Given the description of an element on the screen output the (x, y) to click on. 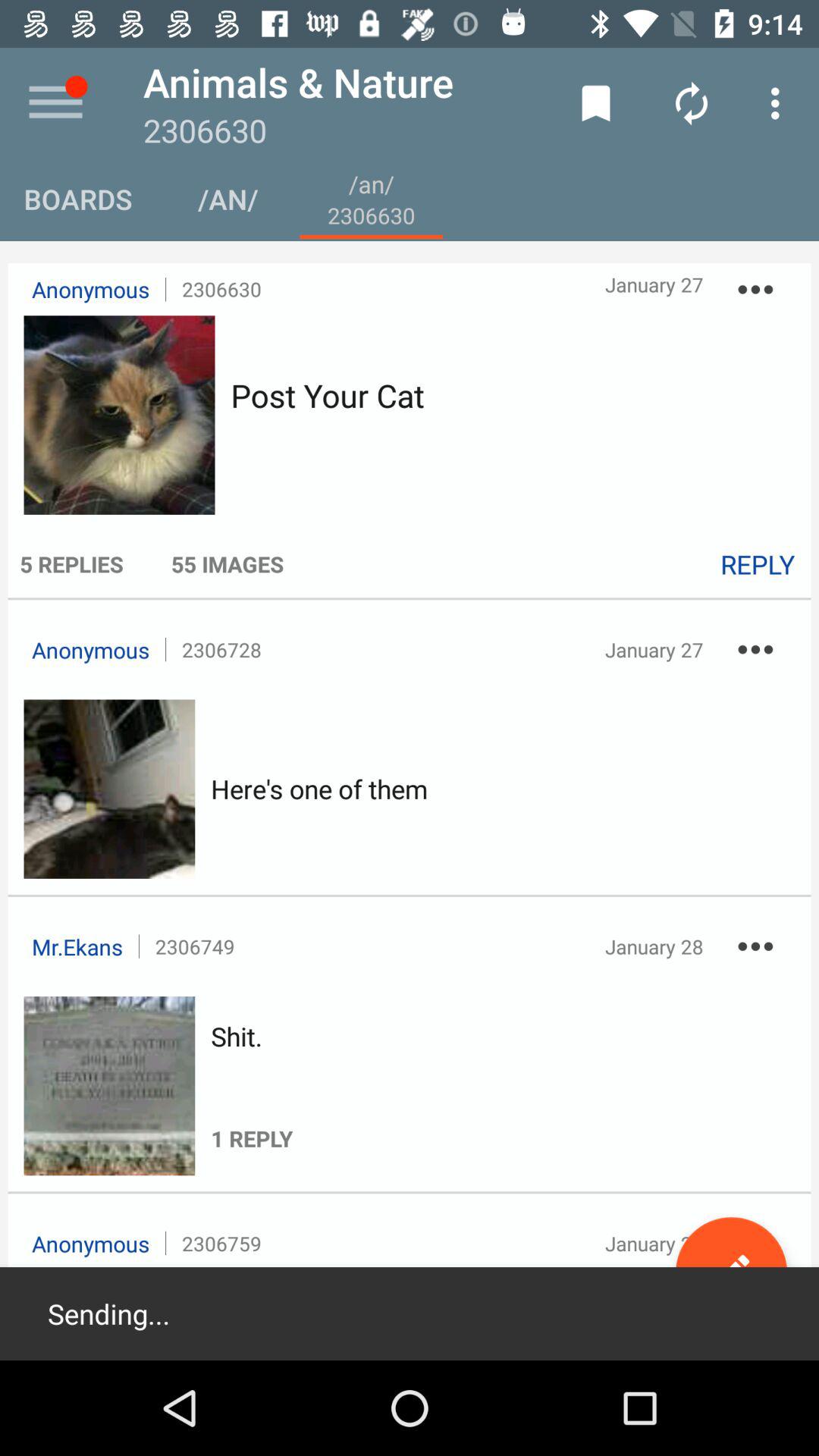
click the item to the right of the animals & nature (595, 103)
